Given the description of an element on the screen output the (x, y) to click on. 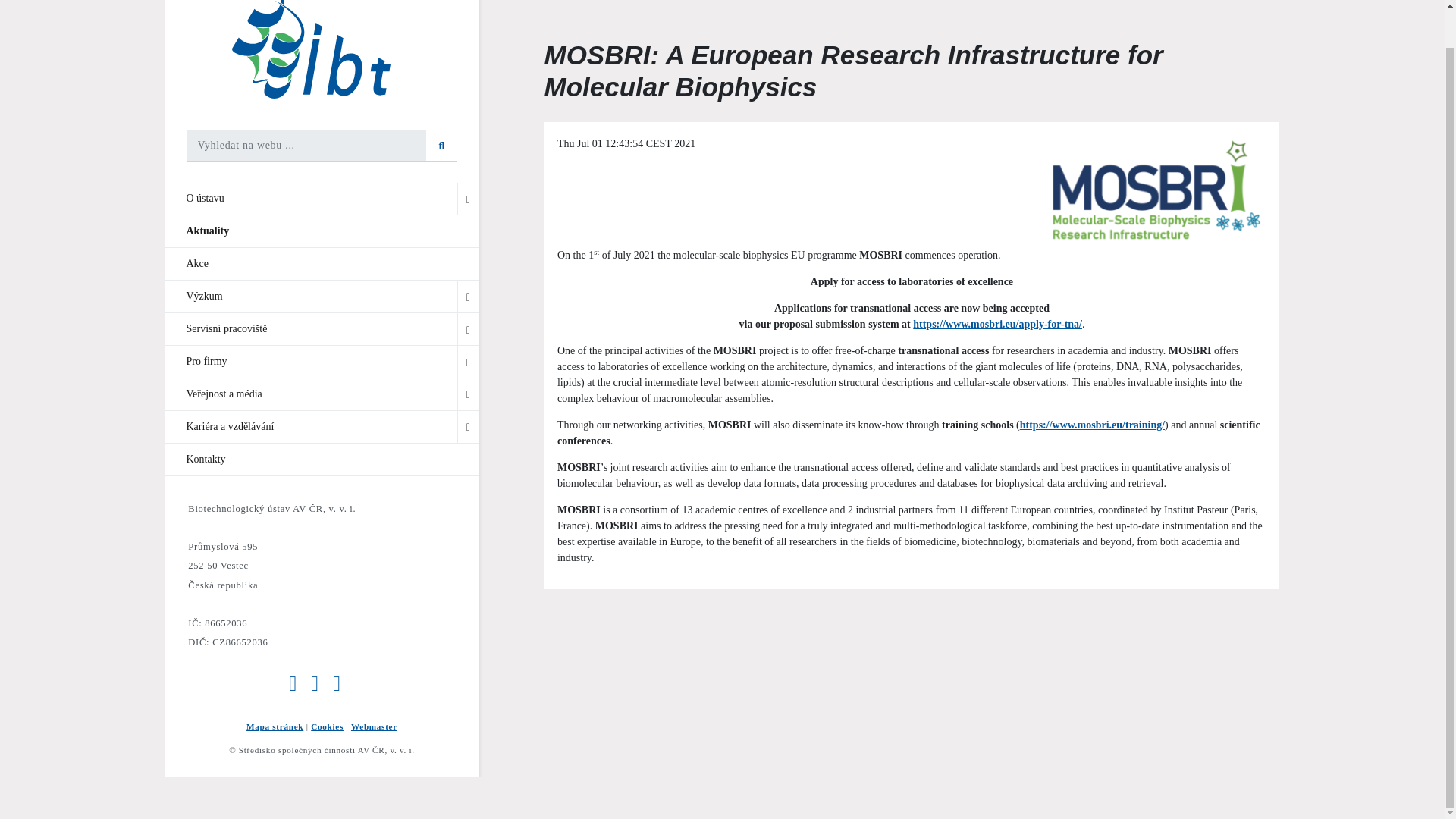
Aktuality (322, 231)
Pro firmy (322, 361)
Akce (322, 264)
